Given the description of an element on the screen output the (x, y) to click on. 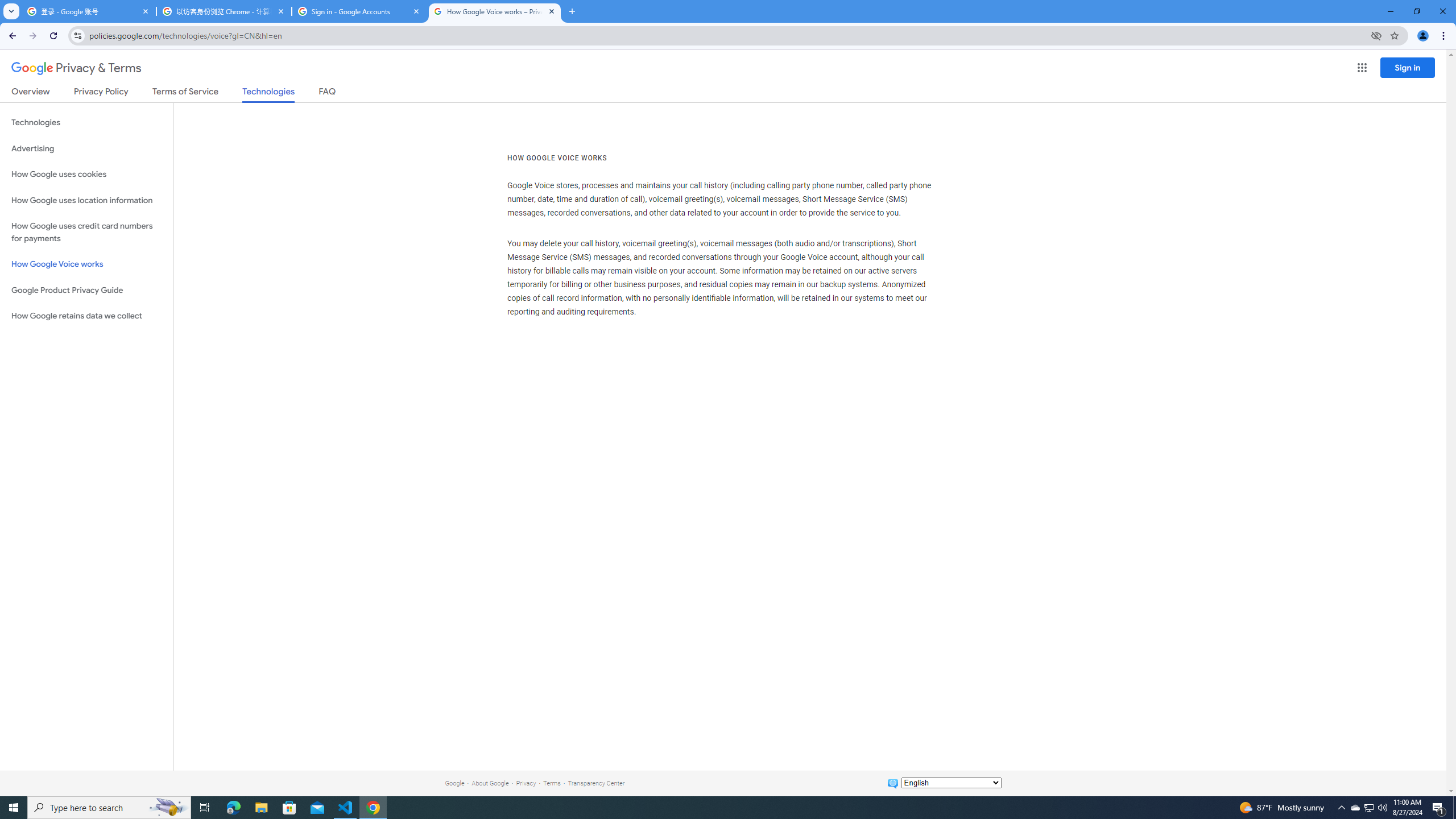
About Google (490, 783)
Google Product Privacy Guide (86, 289)
Advertising (86, 148)
